Given the description of an element on the screen output the (x, y) to click on. 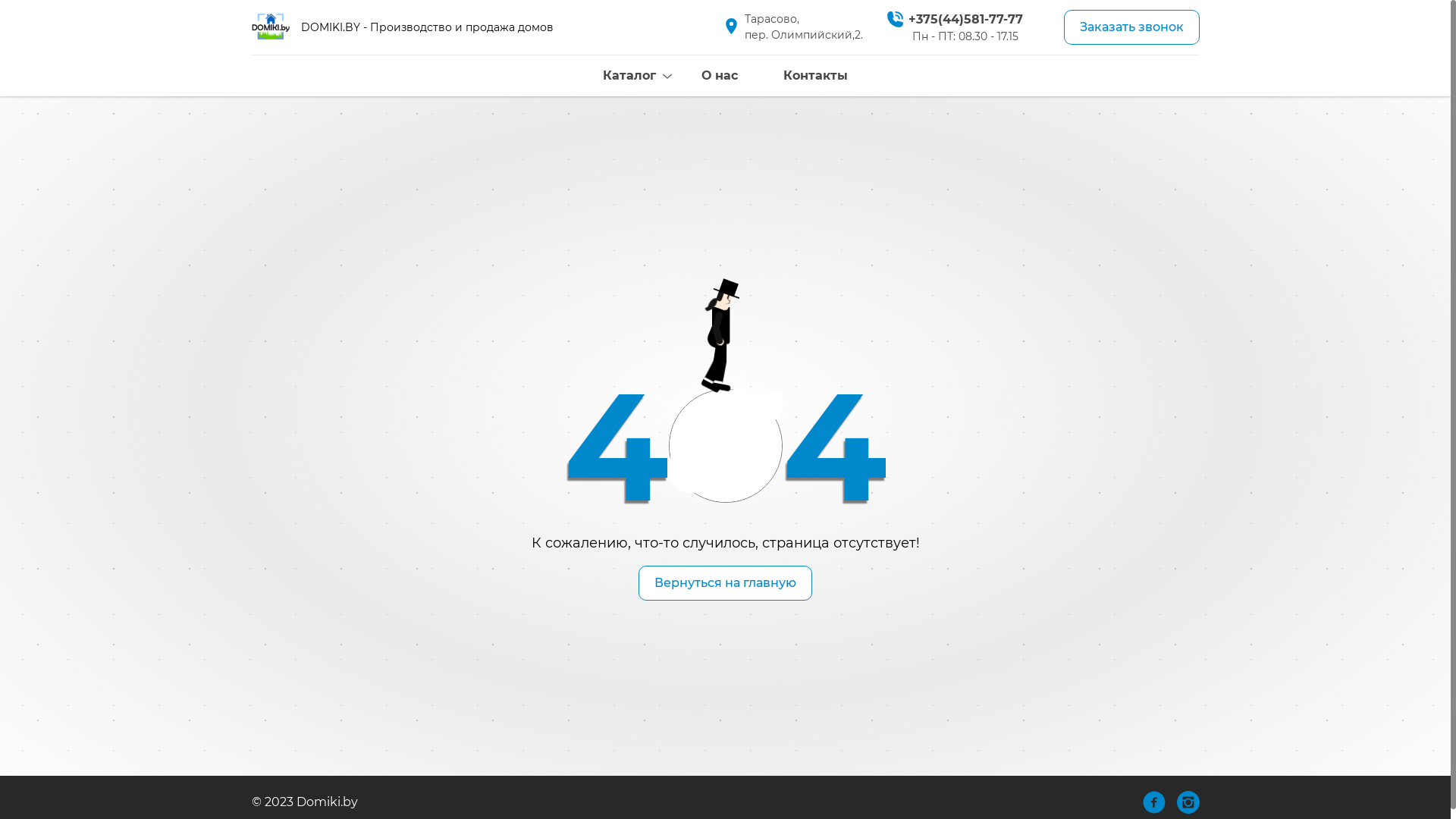
Domiki.by Element type: hover (270, 27)
+375(44)581-77-77 Element type: text (964, 18)
